Given the description of an element on the screen output the (x, y) to click on. 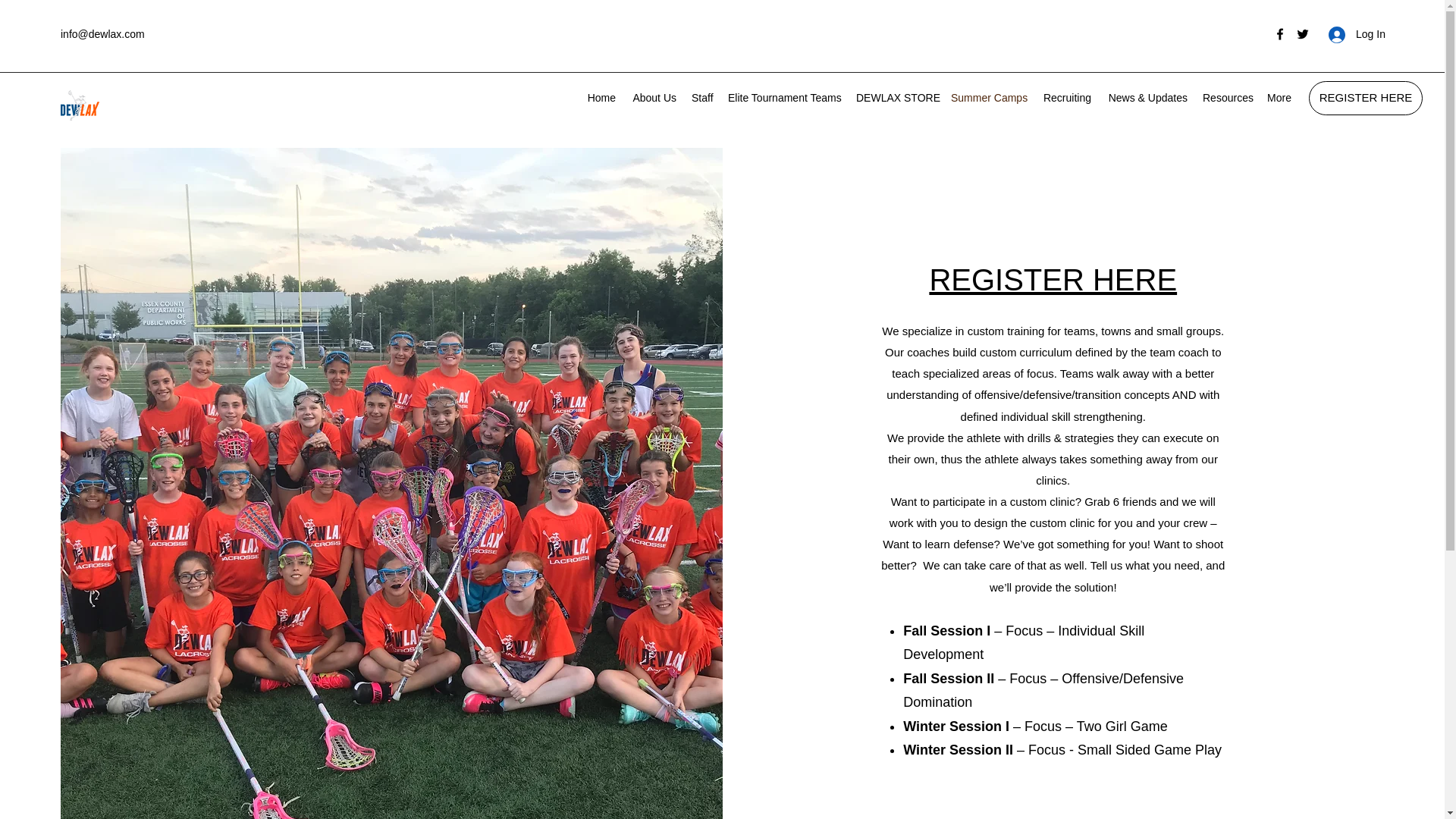
Log In (1351, 34)
REGISTER HERE (1052, 279)
Home (601, 97)
Resources (1227, 97)
DEWLAX STORE (895, 97)
Staff (702, 97)
About Us (653, 97)
Summer Camps (989, 97)
Recruiting (1067, 97)
REGISTER HERE (1365, 98)
